Given the description of an element on the screen output the (x, y) to click on. 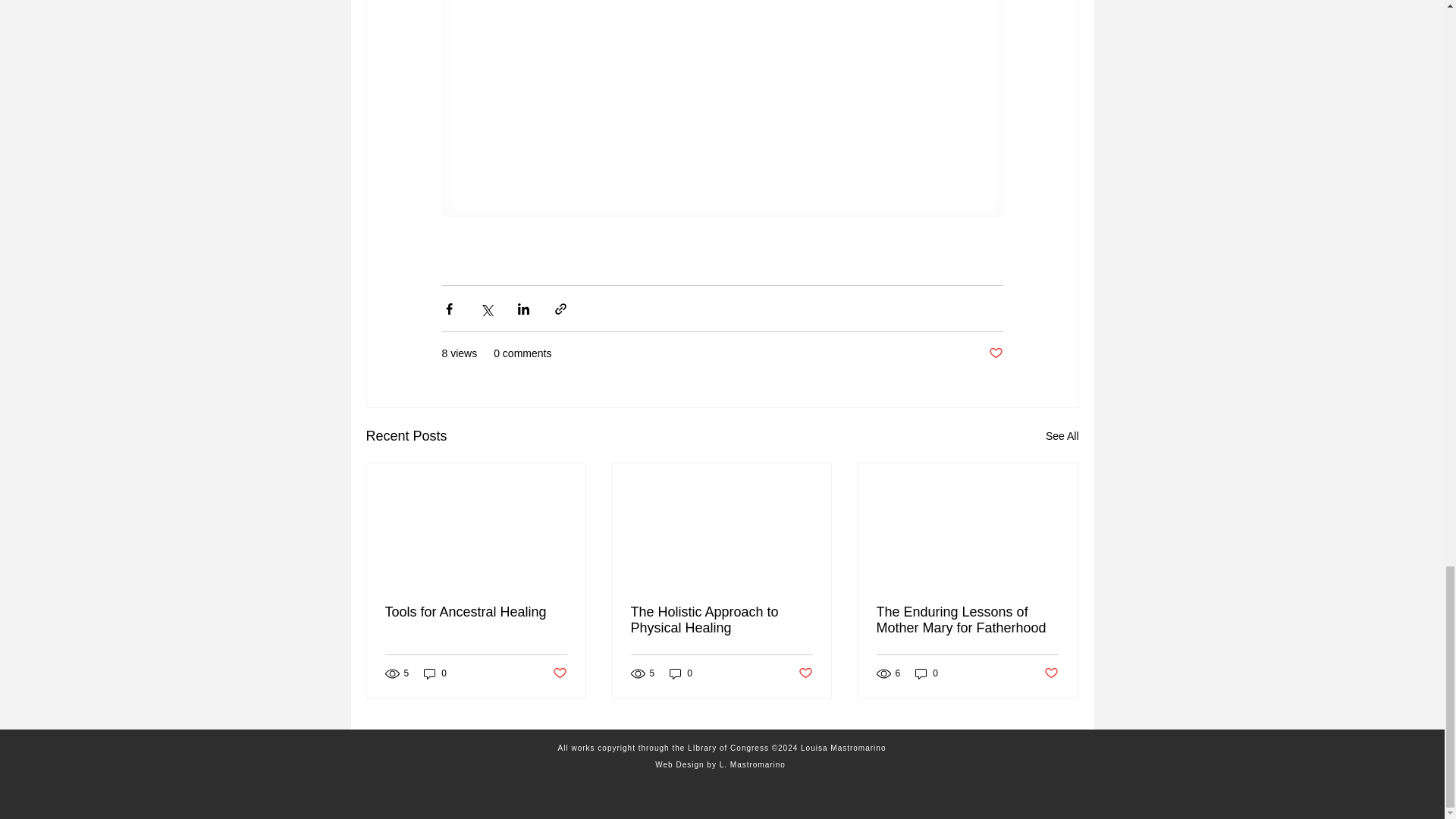
The Enduring Lessons of Mother Mary for Fatherhood (967, 620)
0 (926, 673)
Post not marked as liked (558, 672)
0 (435, 673)
0 (681, 673)
Tools for Ancestral Healing (476, 611)
Post not marked as liked (804, 672)
The Holistic Approach to Physical Healing (721, 620)
Post not marked as liked (995, 353)
Post not marked as liked (1050, 672)
See All (1061, 436)
